Given the description of an element on the screen output the (x, y) to click on. 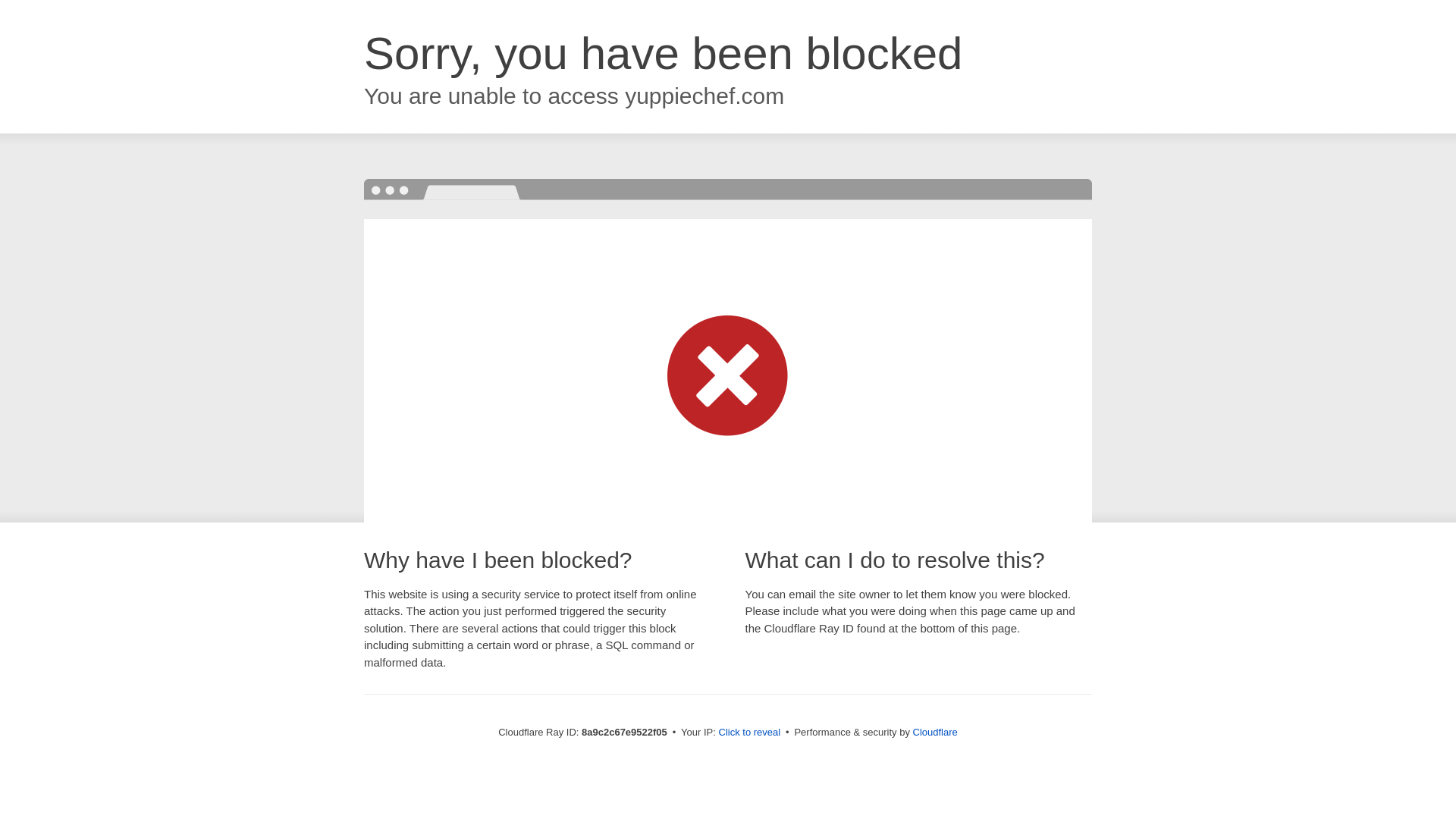
Click to reveal (749, 732)
Cloudflare (935, 731)
